Given the description of an element on the screen output the (x, y) to click on. 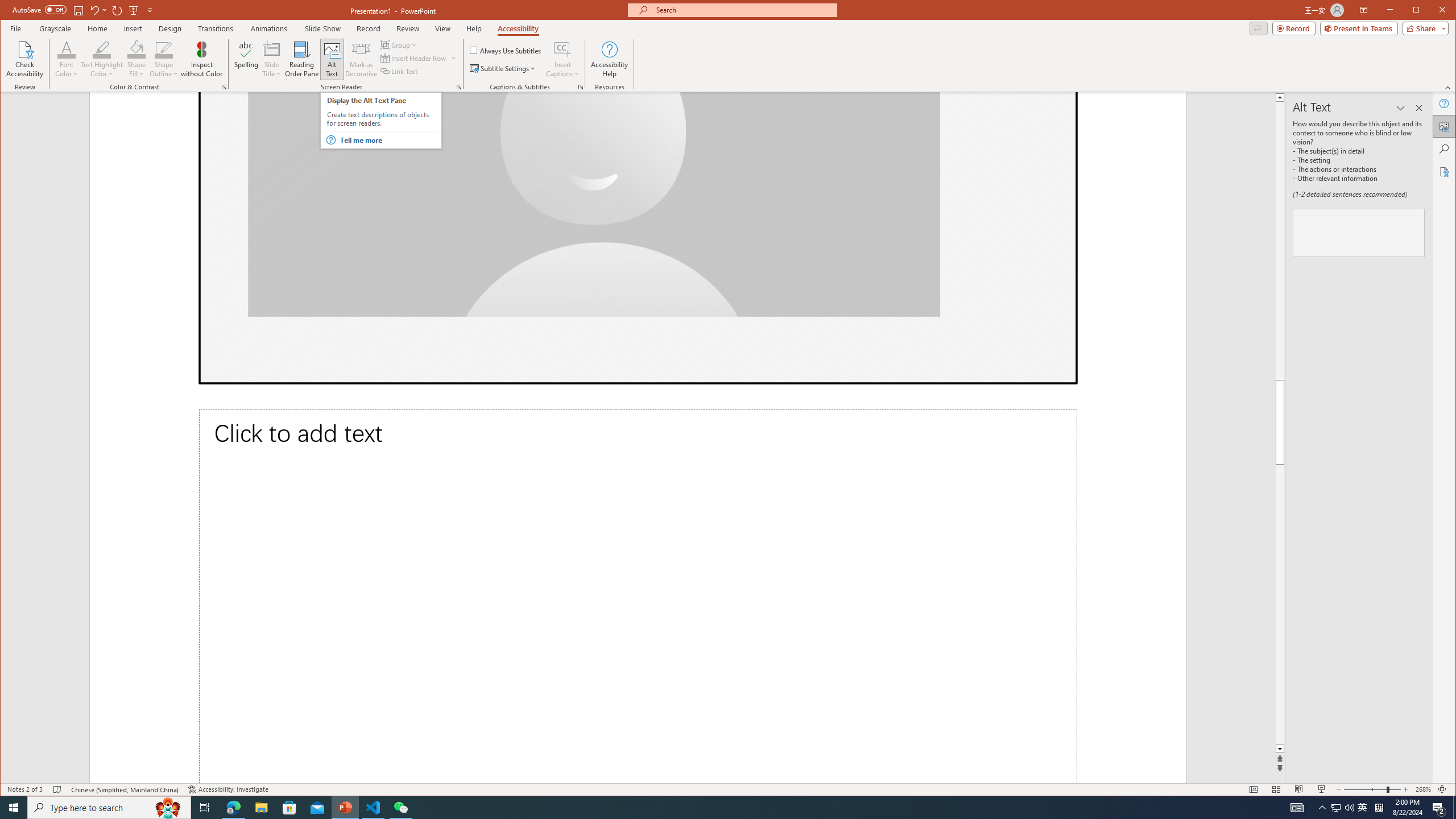
Zoom 268% (1422, 789)
